Given the description of an element on the screen output the (x, y) to click on. 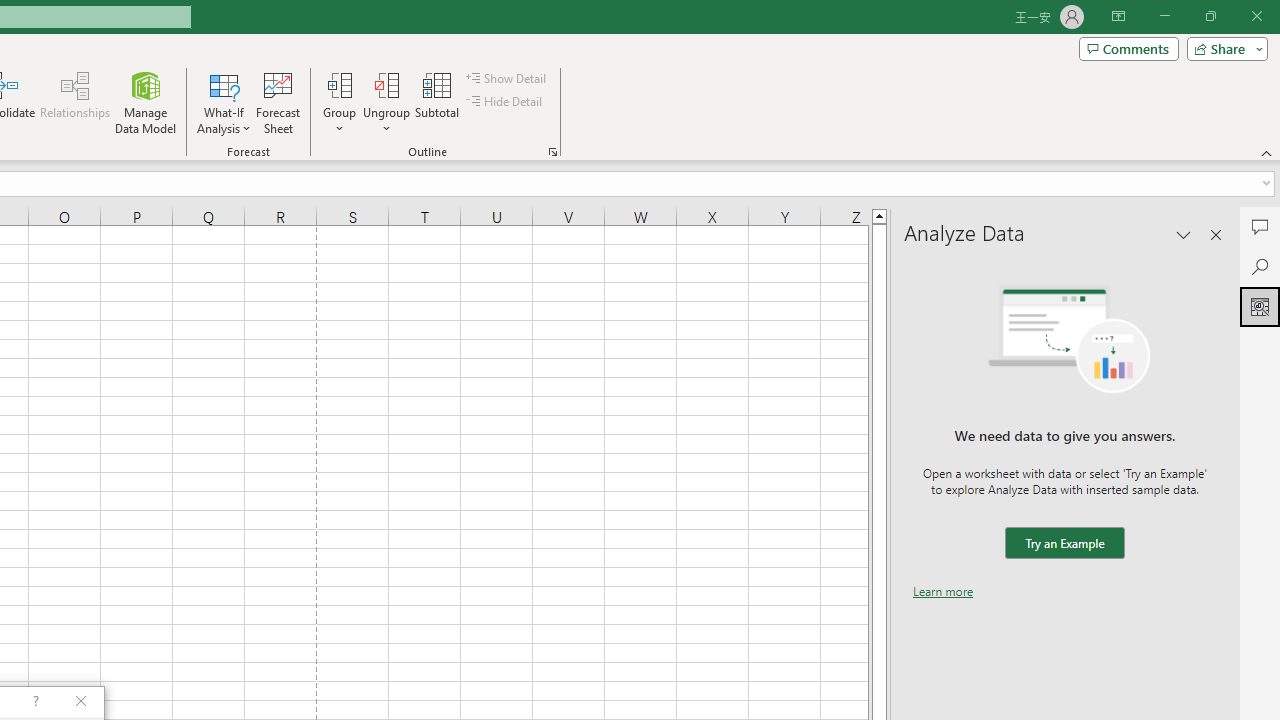
Minimize (1164, 16)
More Options (386, 121)
Subtotal (437, 102)
Share (1223, 48)
Show Detail (507, 78)
Line up (879, 215)
Forecast Sheet (278, 102)
Collapse the Ribbon (1267, 152)
Task Pane Options (1183, 234)
Ungroup... (386, 84)
Close pane (1215, 234)
Hide Detail (505, 101)
Learn more (943, 591)
Restore Down (1210, 16)
